Given the description of an element on the screen output the (x, y) to click on. 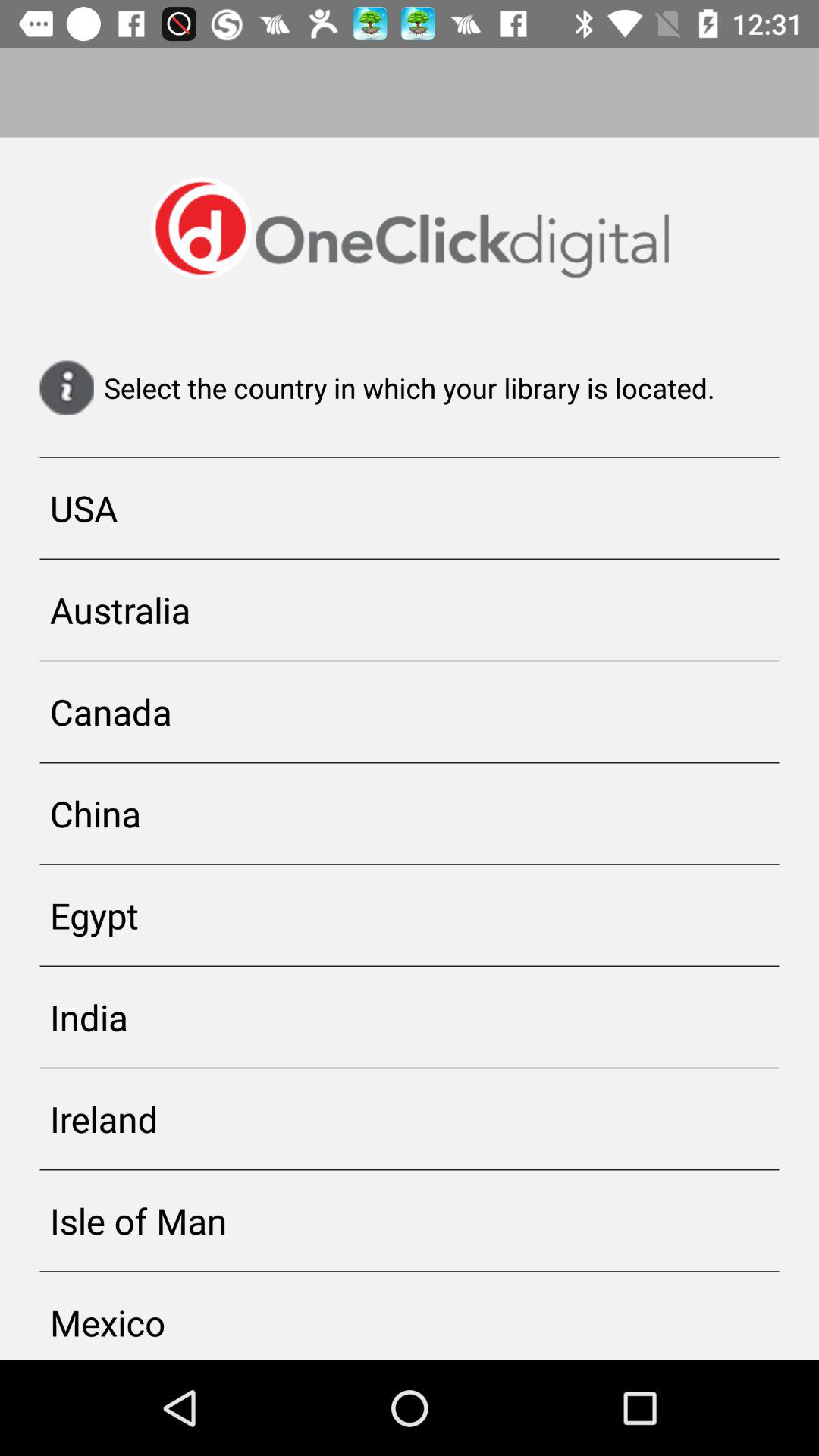
select item above the egypt app (409, 813)
